Given the description of an element on the screen output the (x, y) to click on. 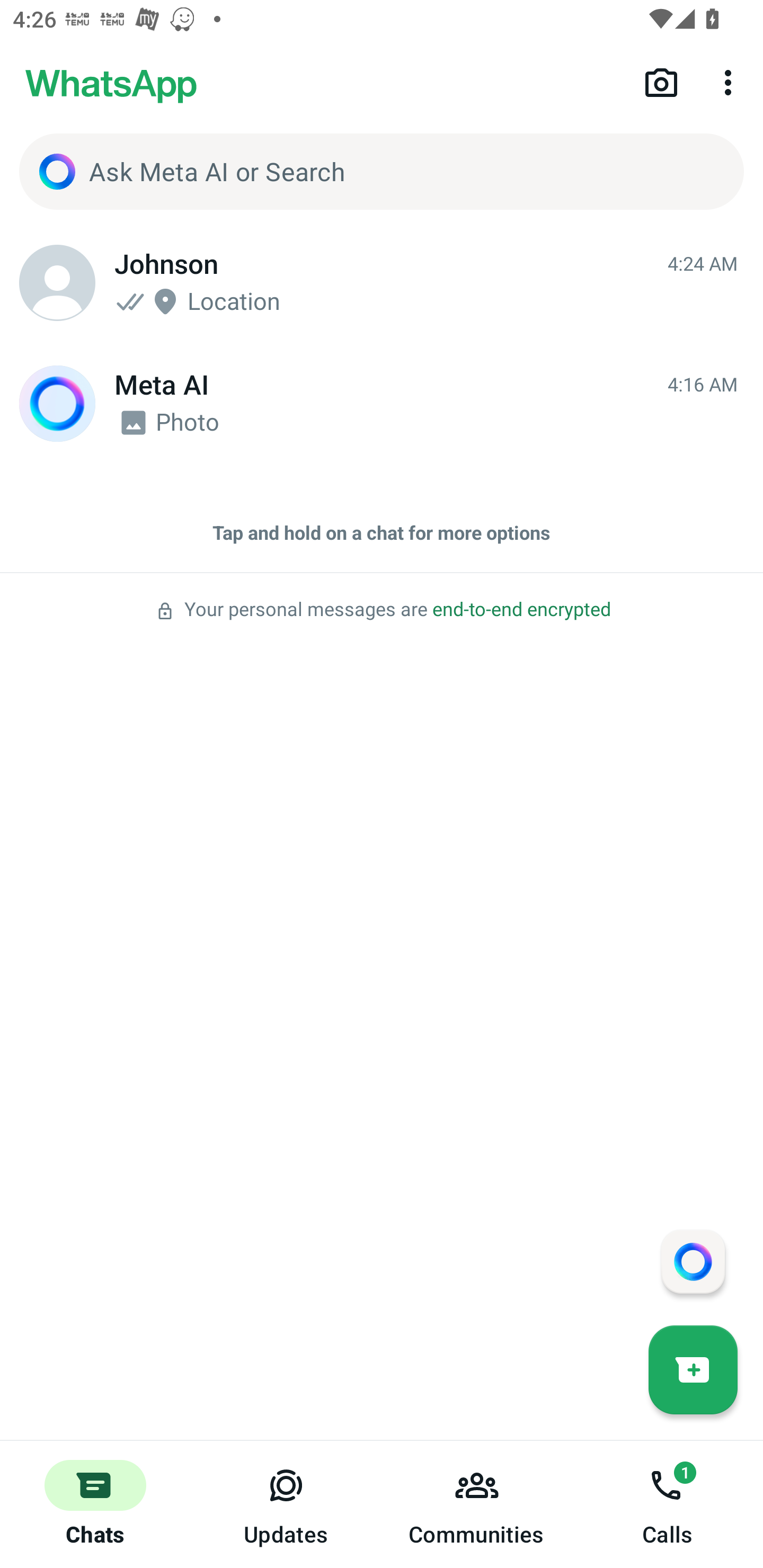
Camera (661, 81)
More options (731, 81)
Johnson Johnson 4:24 AM 4:24 AM Location (381, 282)
Johnson (57, 282)
Meta AI Meta AI 4:16 AM 4:16 AM Photo (381, 403)
Meta AI (57, 403)
end-to-end encrypted (521, 609)
Message your assistant (692, 1261)
New chat (692, 1369)
Updates (285, 1504)
Communities (476, 1504)
Calls, 1 new notification Calls (667, 1504)
